Given the description of an element on the screen output the (x, y) to click on. 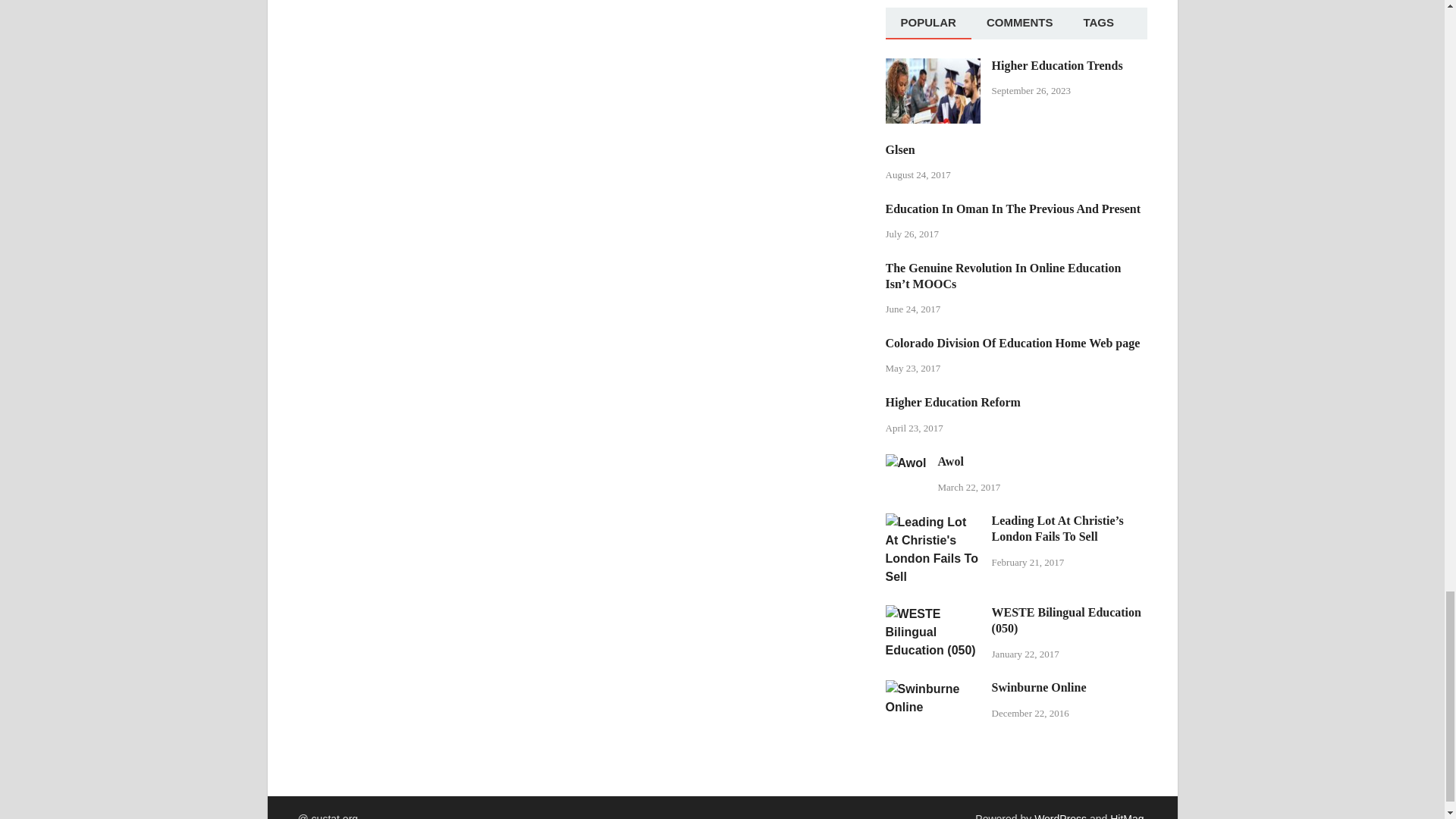
Awol (905, 462)
Swinburne Online (932, 688)
Higher Education Trends (932, 66)
